Given the description of an element on the screen output the (x, y) to click on. 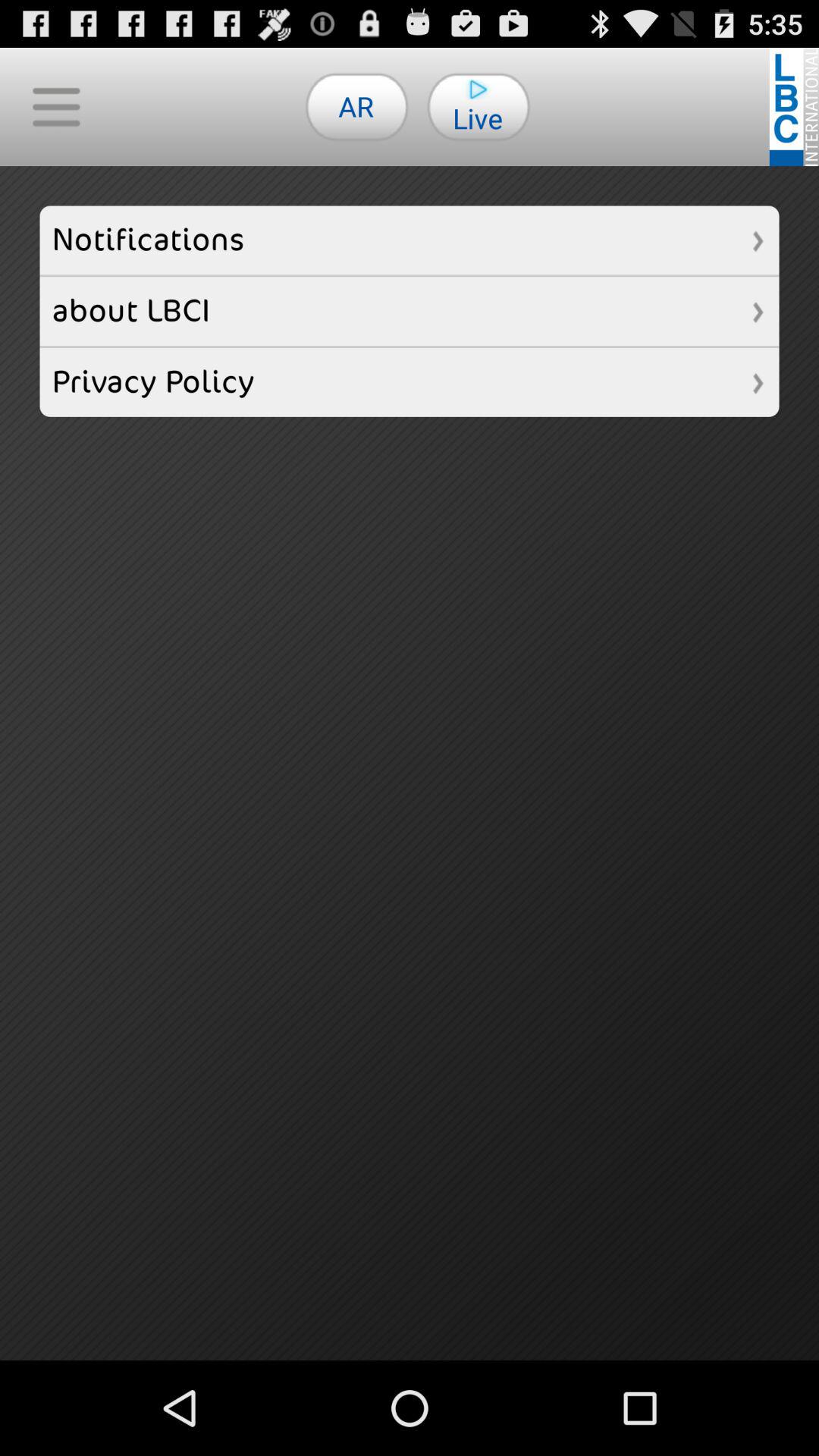
open the privacy policy button (409, 382)
